Given the description of an element on the screen output the (x, y) to click on. 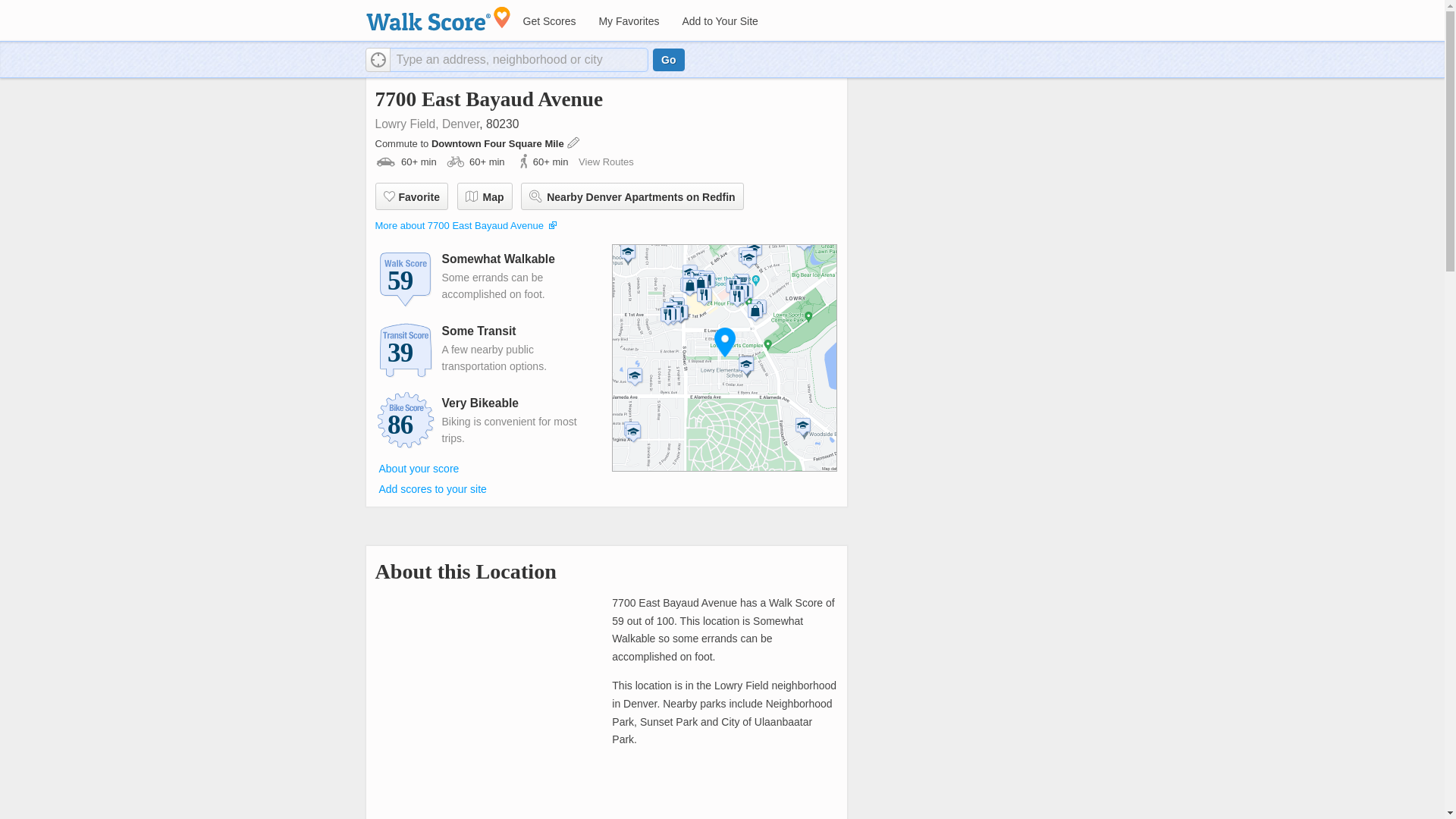
Favorite (410, 195)
More about 7700 East Bayaud Avenue (458, 225)
Get Scores (548, 21)
Go (668, 59)
Denver (460, 123)
Downtown Four Square Mile (498, 143)
About your score (419, 468)
Add to Your Site (719, 21)
Map (484, 195)
My Favorites (628, 21)
